Given the description of an element on the screen output the (x, y) to click on. 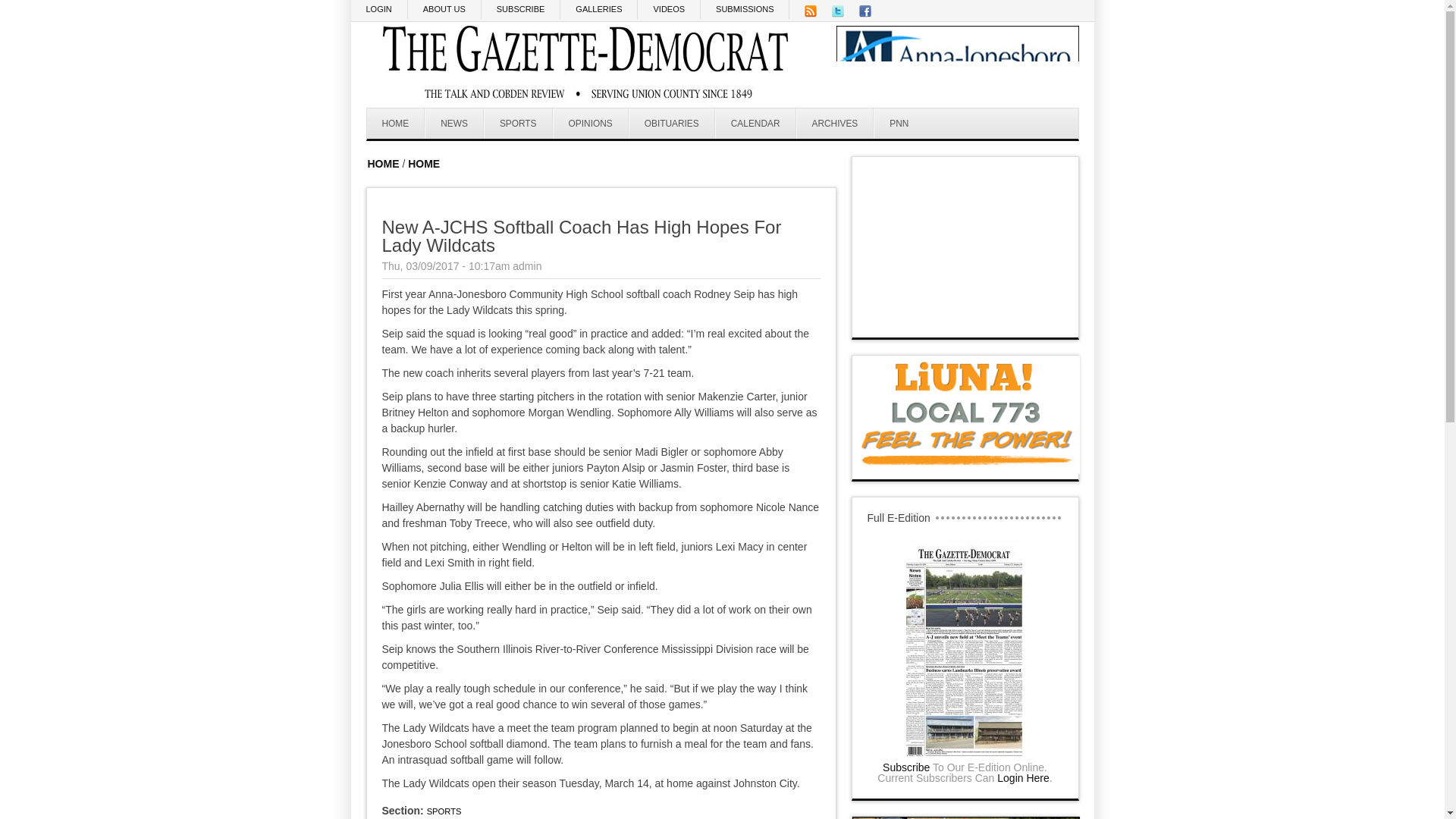
Opinions (590, 123)
GALLERIES (598, 9)
SPORTS (518, 123)
Login Here (1023, 777)
anna weather forecast (965, 322)
HOME (423, 163)
OPINIONS (590, 123)
LOGIN (378, 9)
SUBMISSIONS (744, 9)
PNN (898, 123)
